Given the description of an element on the screen output the (x, y) to click on. 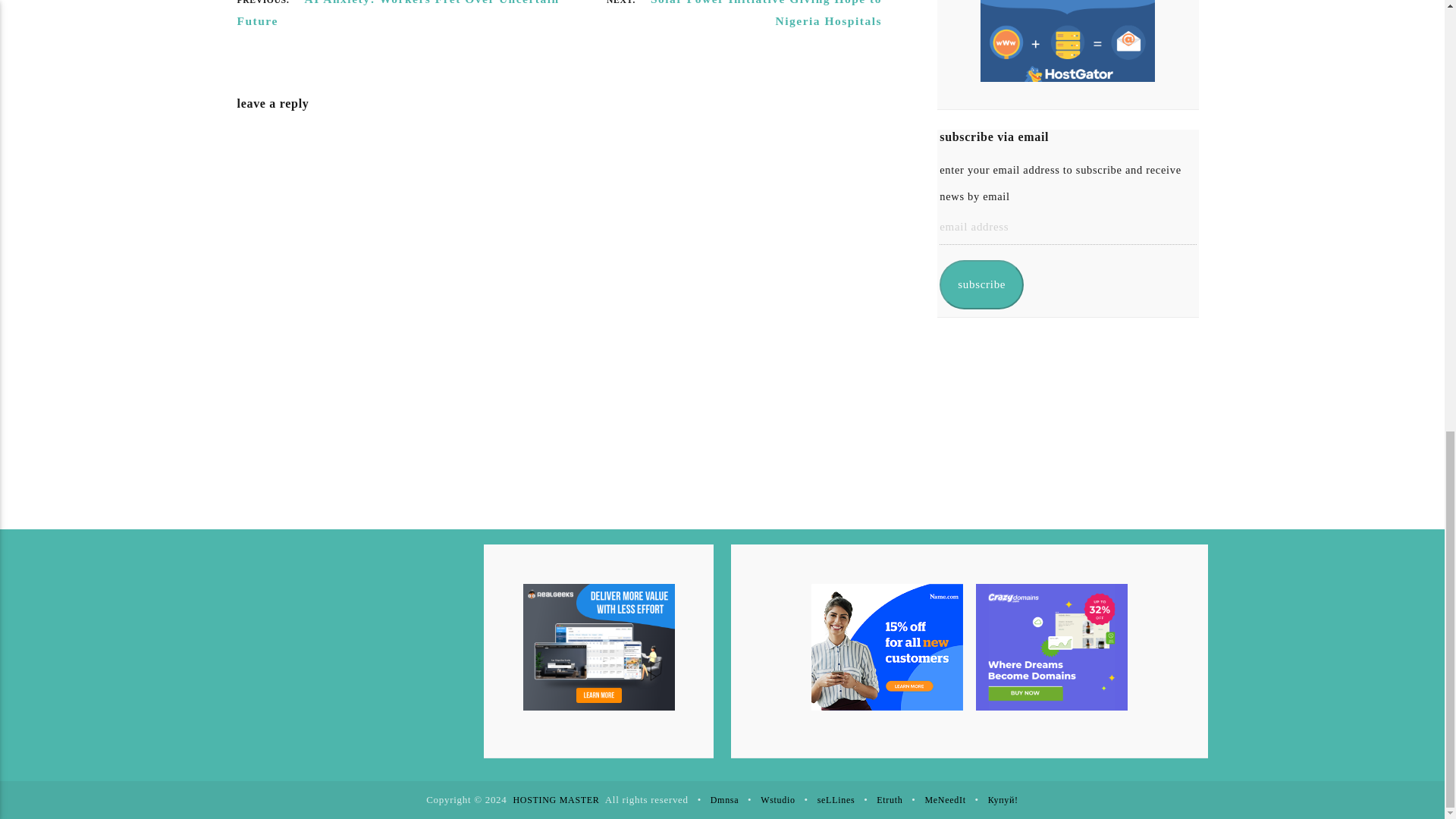
PREVIOUS: AI Anxiety: Workers Fret Over Uncertain Future (397, 15)
subscribe (981, 284)
